Given the description of an element on the screen output the (x, y) to click on. 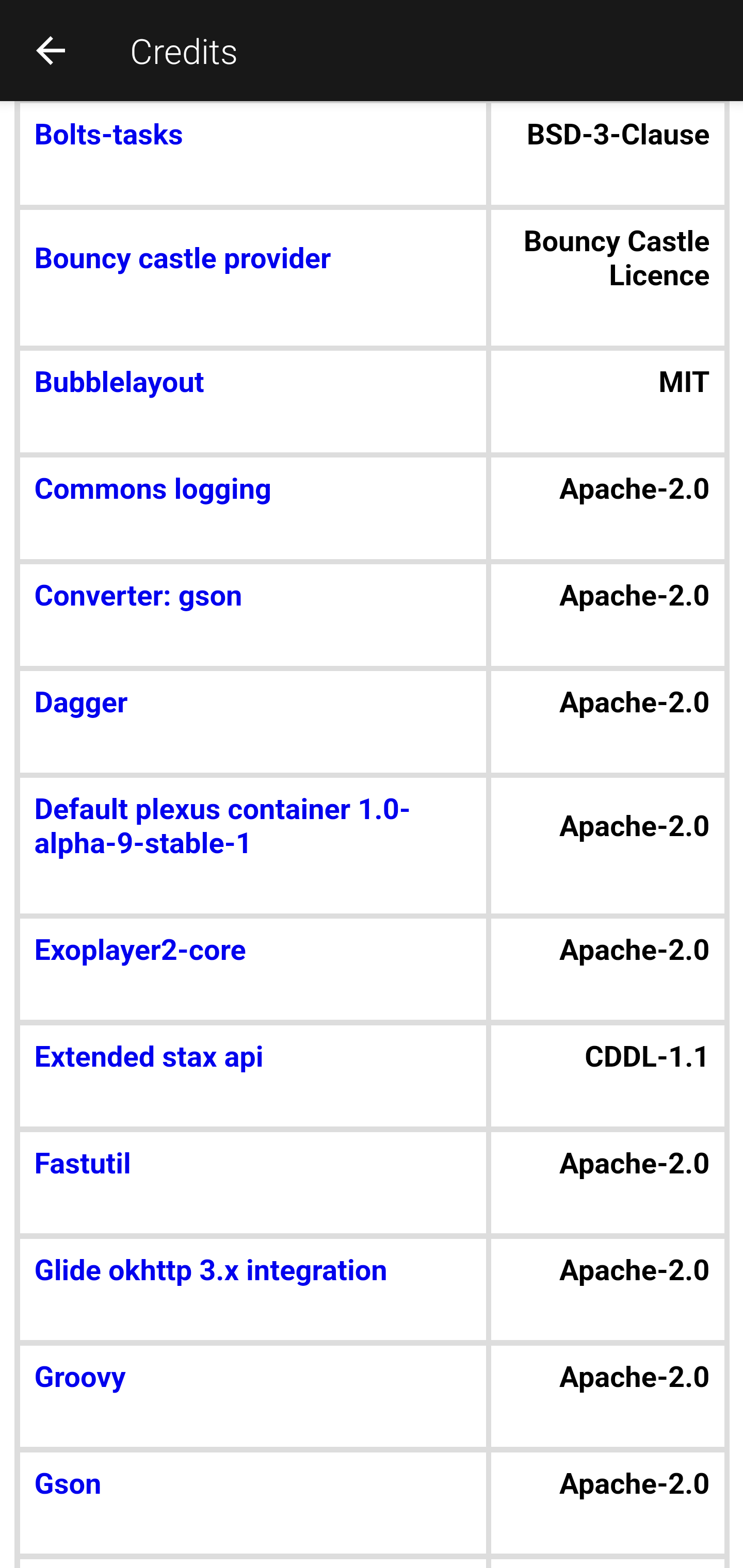
Navigate up (50, 50)
Bolts-tasks Bolts-tasks Bolts-tasks (252, 135)
Bubblelayout Bubblelayout Bubblelayout (252, 383)
Commons logging Commons logging Commons logging (252, 491)
Converter: gson Converter: gson Converter: gson (252, 596)
Dagger Dagger Dagger (252, 704)
Exoplayer2-core Exoplayer2-core Exoplayer2-core (252, 950)
Fastutil Fastutil Fastutil (252, 1164)
Groovy Groovy Groovy (252, 1377)
Gson Gson Gson (252, 1484)
